Given the description of an element on the screen output the (x, y) to click on. 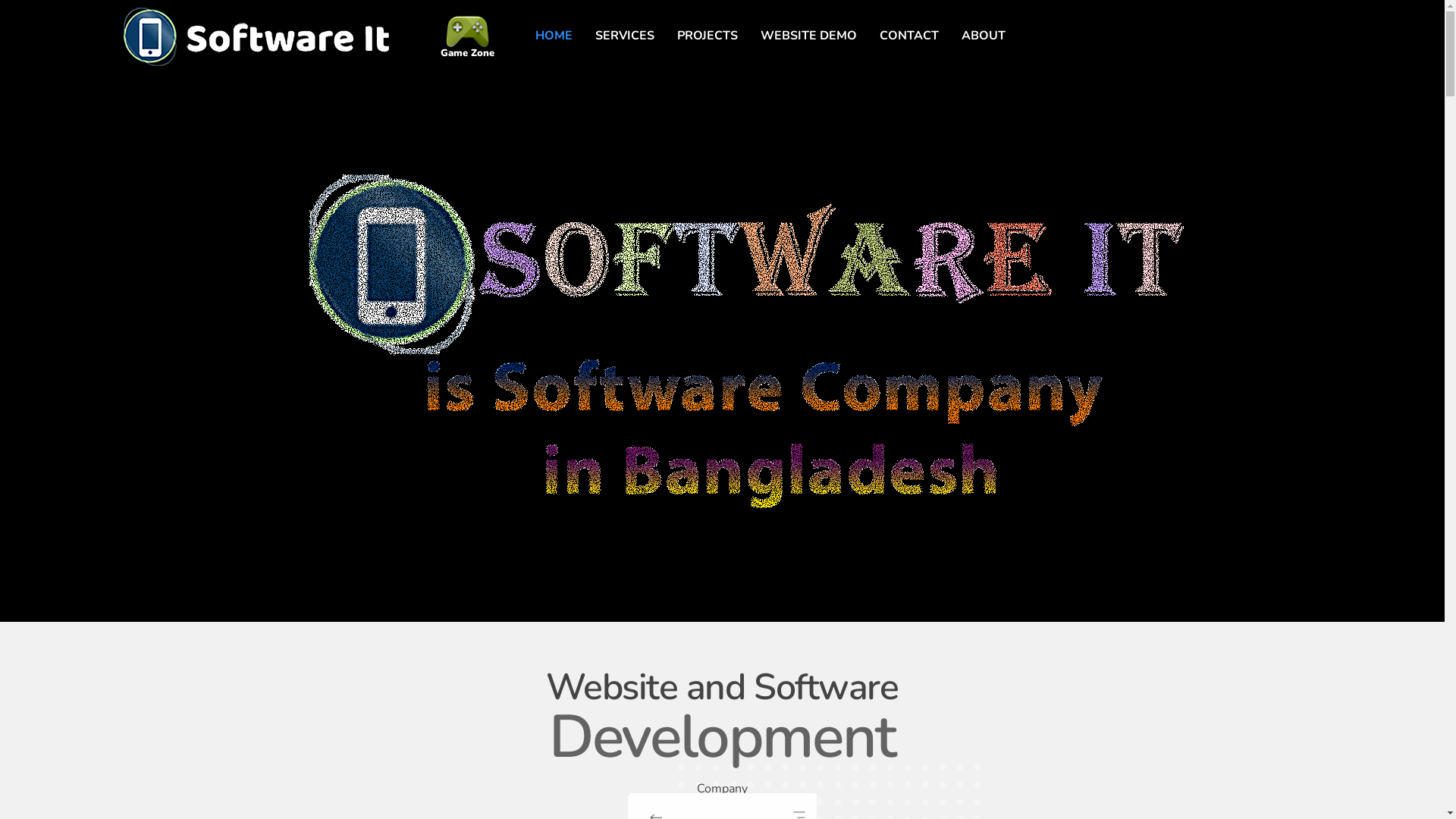
Software It Element type: hover (255, 36)
WEBSITE DEMO Element type: text (808, 35)
Software It Element type: text (169, 74)
HOME Element type: text (553, 35)
SERVICES Element type: text (624, 35)
PROJECTS Element type: text (707, 35)
CONTACT Element type: text (908, 35)
ABOUT Element type: text (982, 35)
Game Zone Element type: text (467, 52)
